Given the description of an element on the screen output the (x, y) to click on. 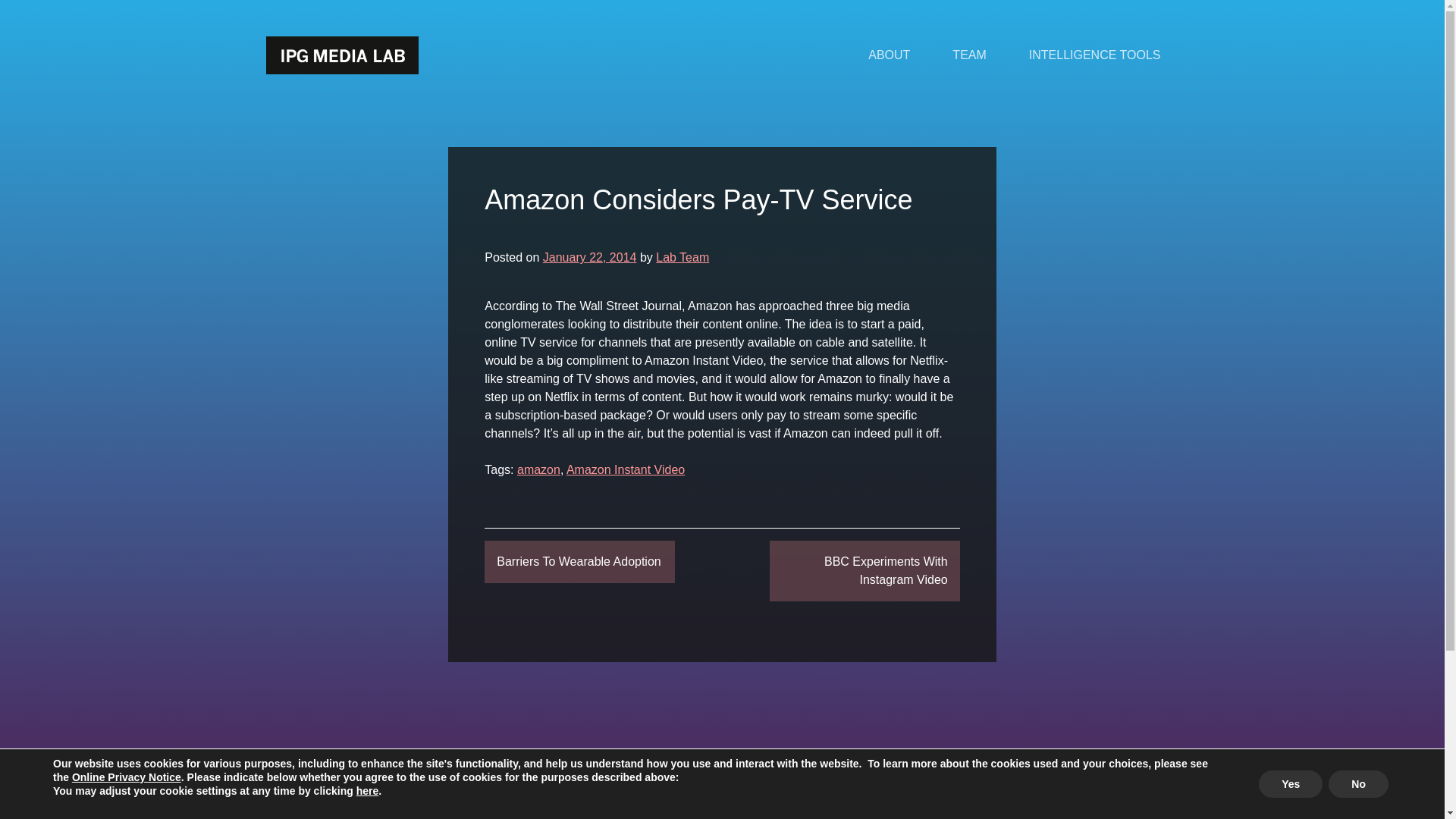
January 22, 2014 (590, 256)
INTELLIGENCE TOOLS (1094, 55)
Online Privacy Notice (125, 776)
IPG Media Lab (340, 55)
Amazon Instant Video (625, 469)
BBC Experiments With Instagram Video (864, 570)
ABOUT (889, 55)
Barriers To Wearable Adoption (579, 561)
TEAM (969, 55)
